Given the description of an element on the screen output the (x, y) to click on. 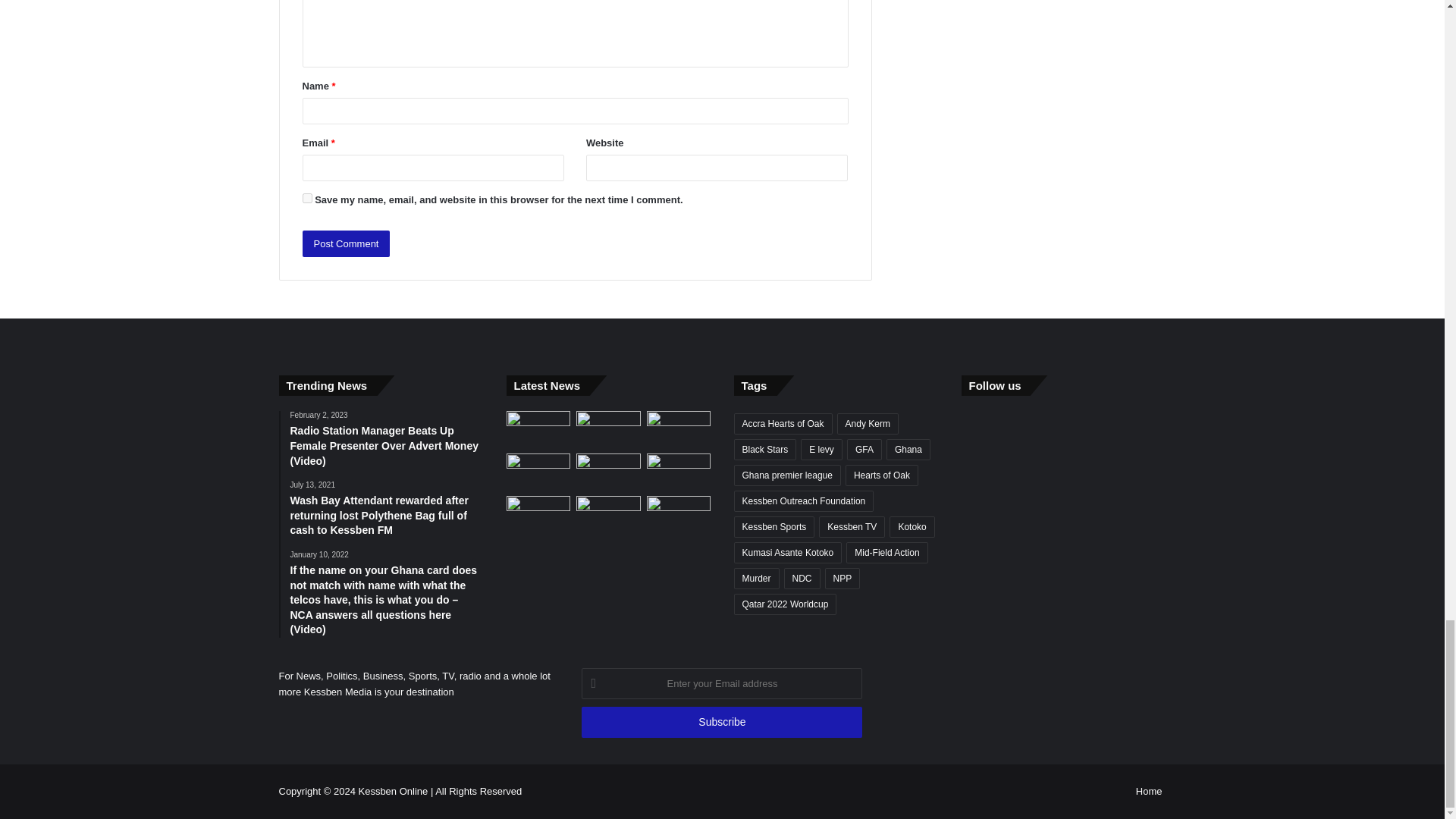
yes (306, 198)
Post Comment (345, 243)
Subscribe (720, 721)
